Given the description of an element on the screen output the (x, y) to click on. 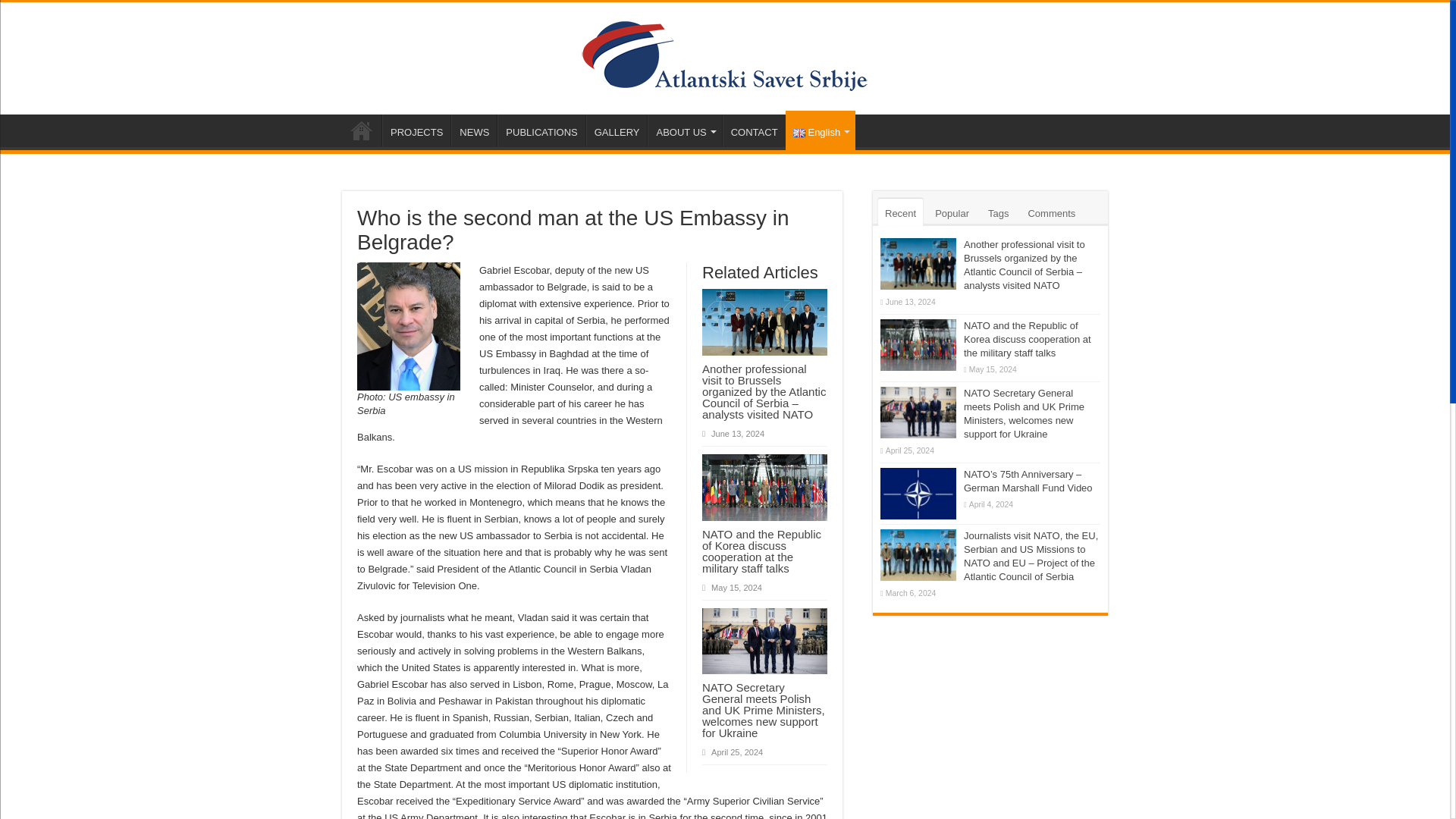
PUBLICATIONS (541, 130)
HOME (361, 130)
ABOUT US (683, 130)
Atlantski Savet Srbije (724, 54)
GALLERY (616, 130)
NEWS (473, 130)
CONTACT (754, 130)
English (821, 129)
PROJECTS (415, 130)
